Given the description of an element on the screen output the (x, y) to click on. 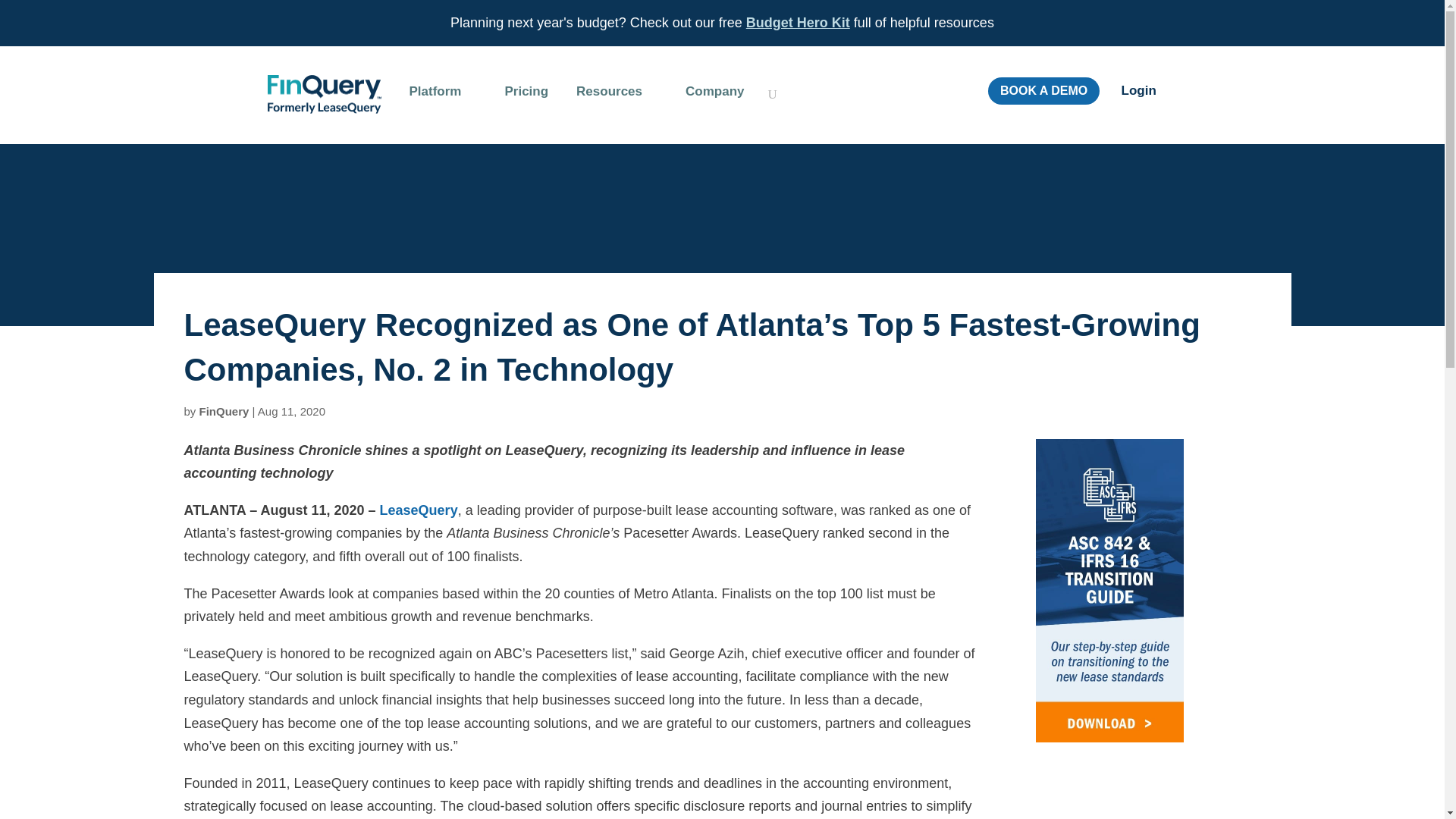
Pricing (525, 104)
Company (721, 104)
Budget Hero Kit (797, 22)
Posts by FinQuery (223, 410)
Resources (617, 104)
Platform (443, 104)
